Given the description of an element on the screen output the (x, y) to click on. 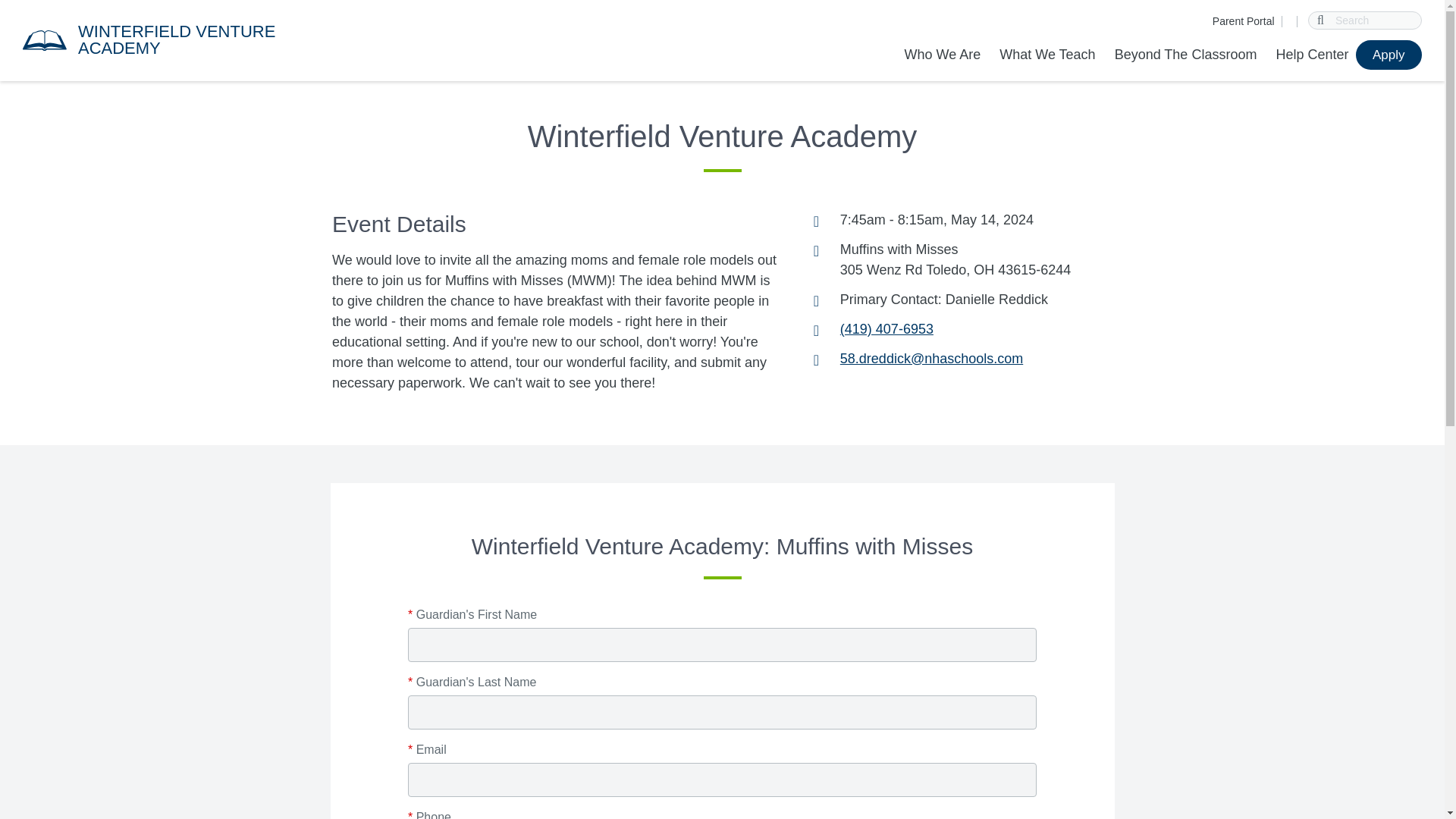
Who We Are (946, 54)
What We Teach (1046, 54)
search (1321, 20)
Apply (1388, 54)
Help Center (1311, 54)
WINTERFIELD VENTURE ACADEMY (174, 39)
Beyond The Classroom (1185, 54)
search (1321, 20)
Parent Portal (1243, 21)
